Given the description of an element on the screen output the (x, y) to click on. 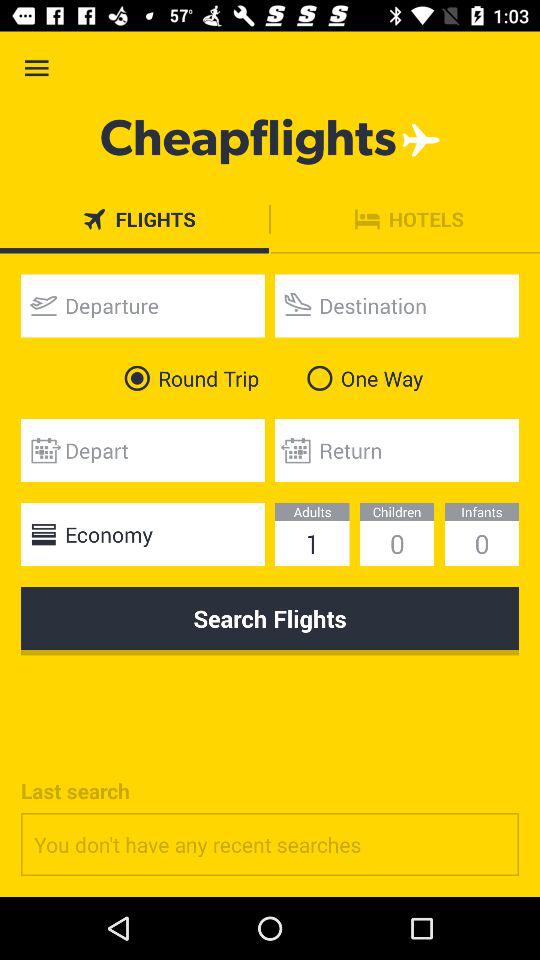
turn on item next to the one way item (187, 378)
